Given the description of an element on the screen output the (x, y) to click on. 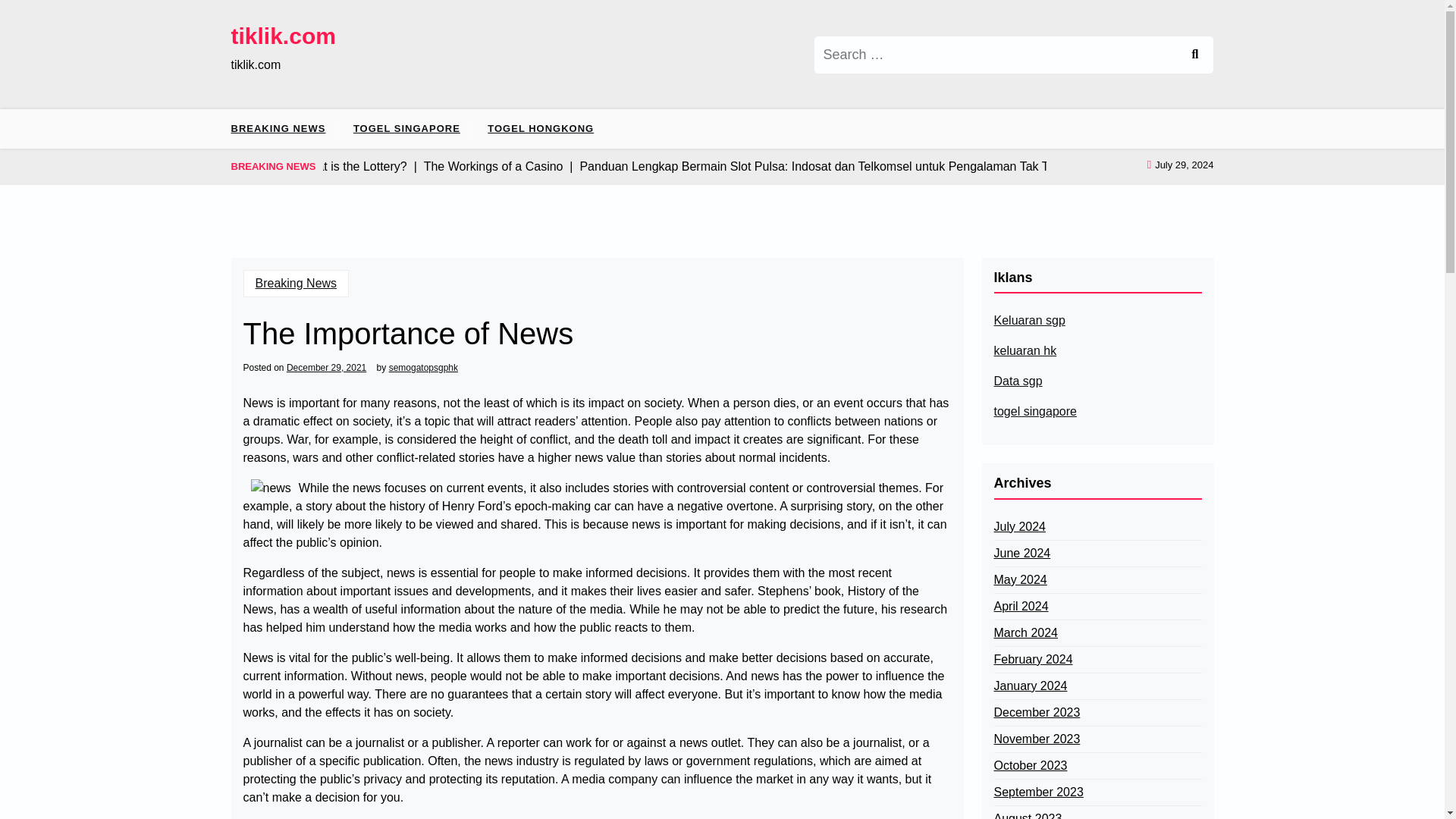
April 2024 (1020, 606)
Breaking News (296, 283)
June 2024 (1020, 553)
TOGEL SINGAPORE (405, 128)
Search (1193, 54)
October 2023 (1029, 765)
July 2024 (1018, 526)
Search (1193, 54)
tiklik.com (282, 35)
February 2024 (1031, 659)
September 2023 (1037, 791)
May 2024 (1019, 579)
keluaran hk (1024, 351)
December 2023 (1036, 712)
August 2023 (1026, 814)
